Given the description of an element on the screen output the (x, y) to click on. 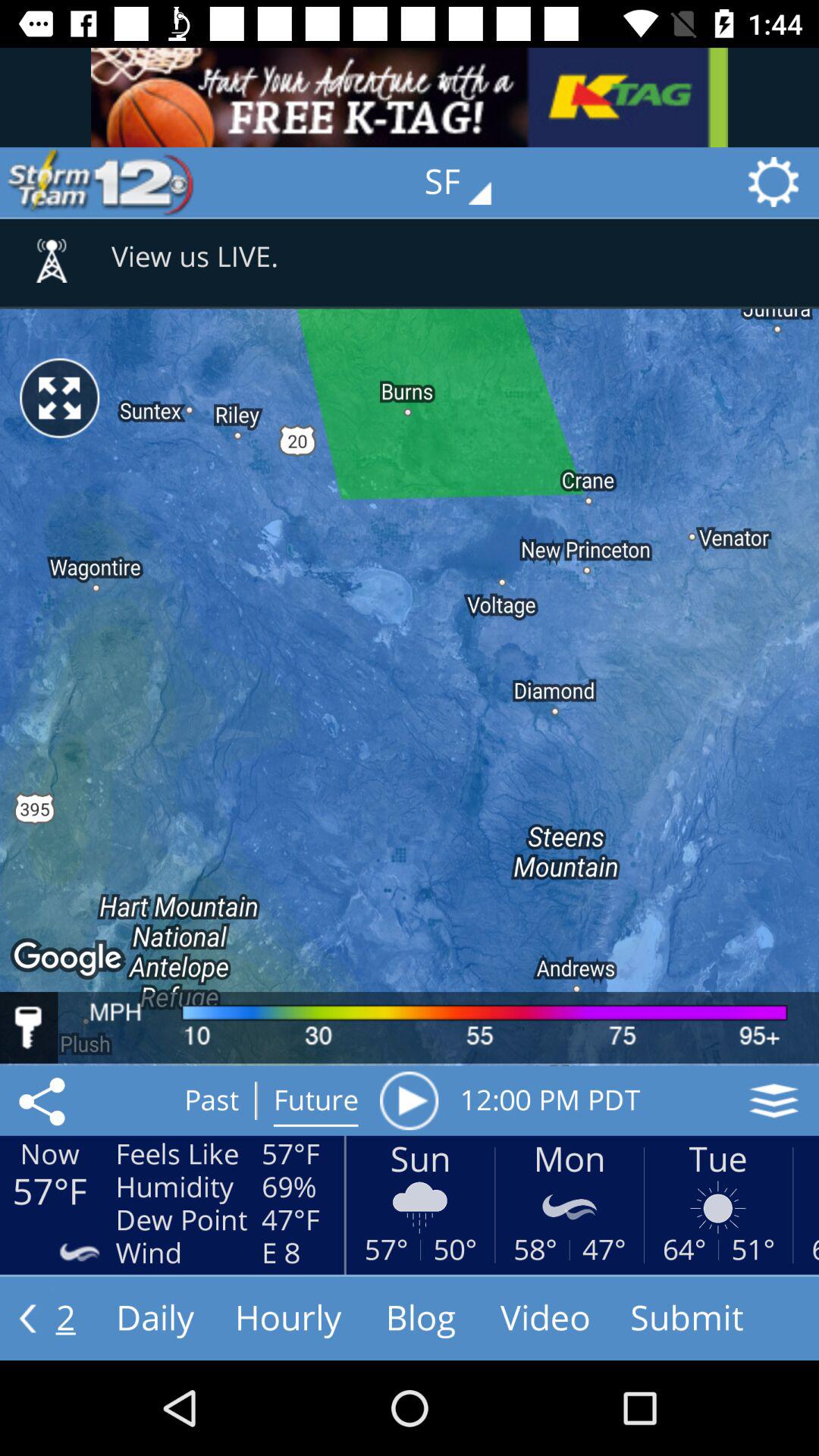
select item to the right of the future icon (409, 1100)
